Given the description of an element on the screen output the (x, y) to click on. 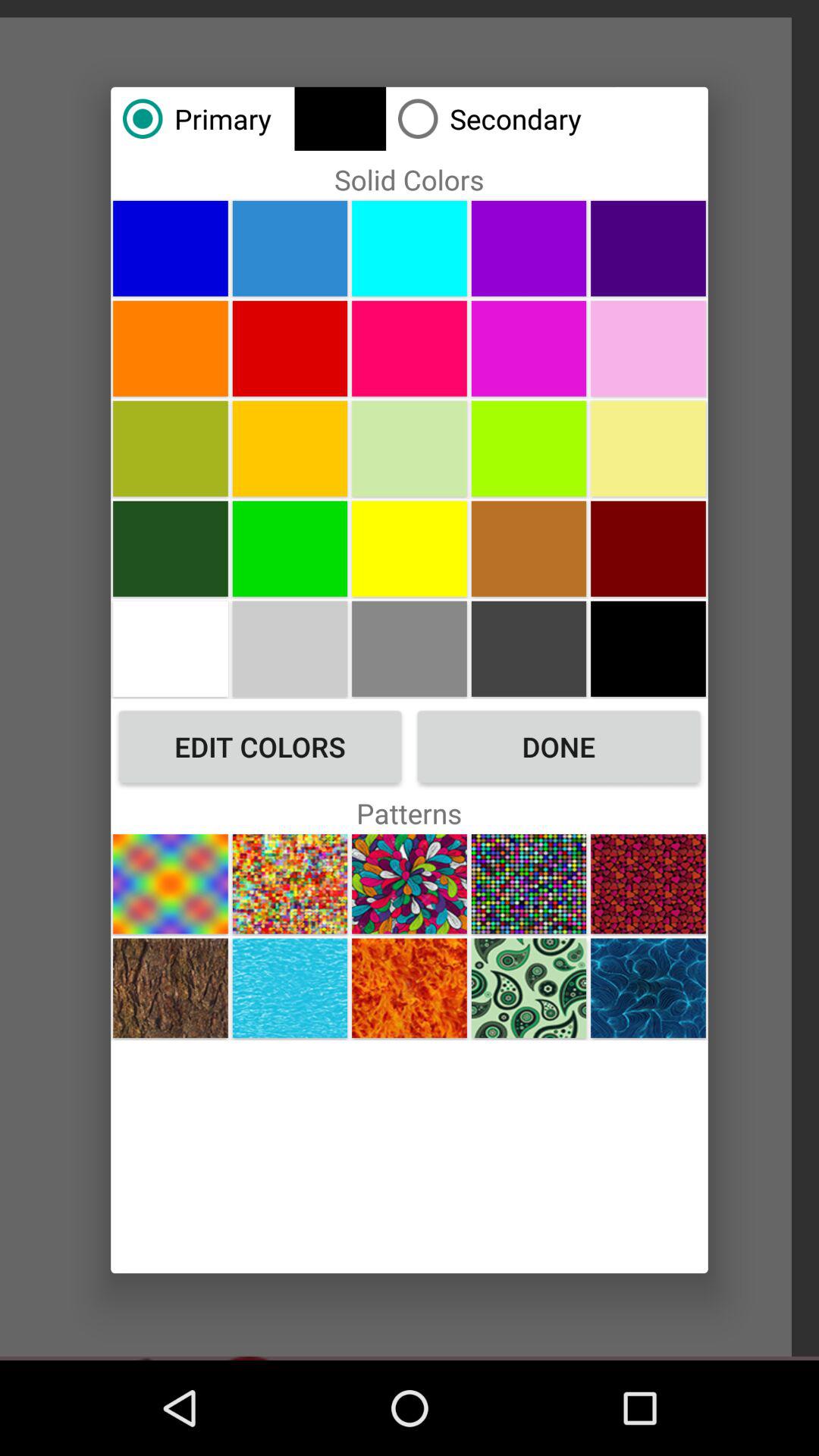
color choice (647, 348)
